Given the description of an element on the screen output the (x, y) to click on. 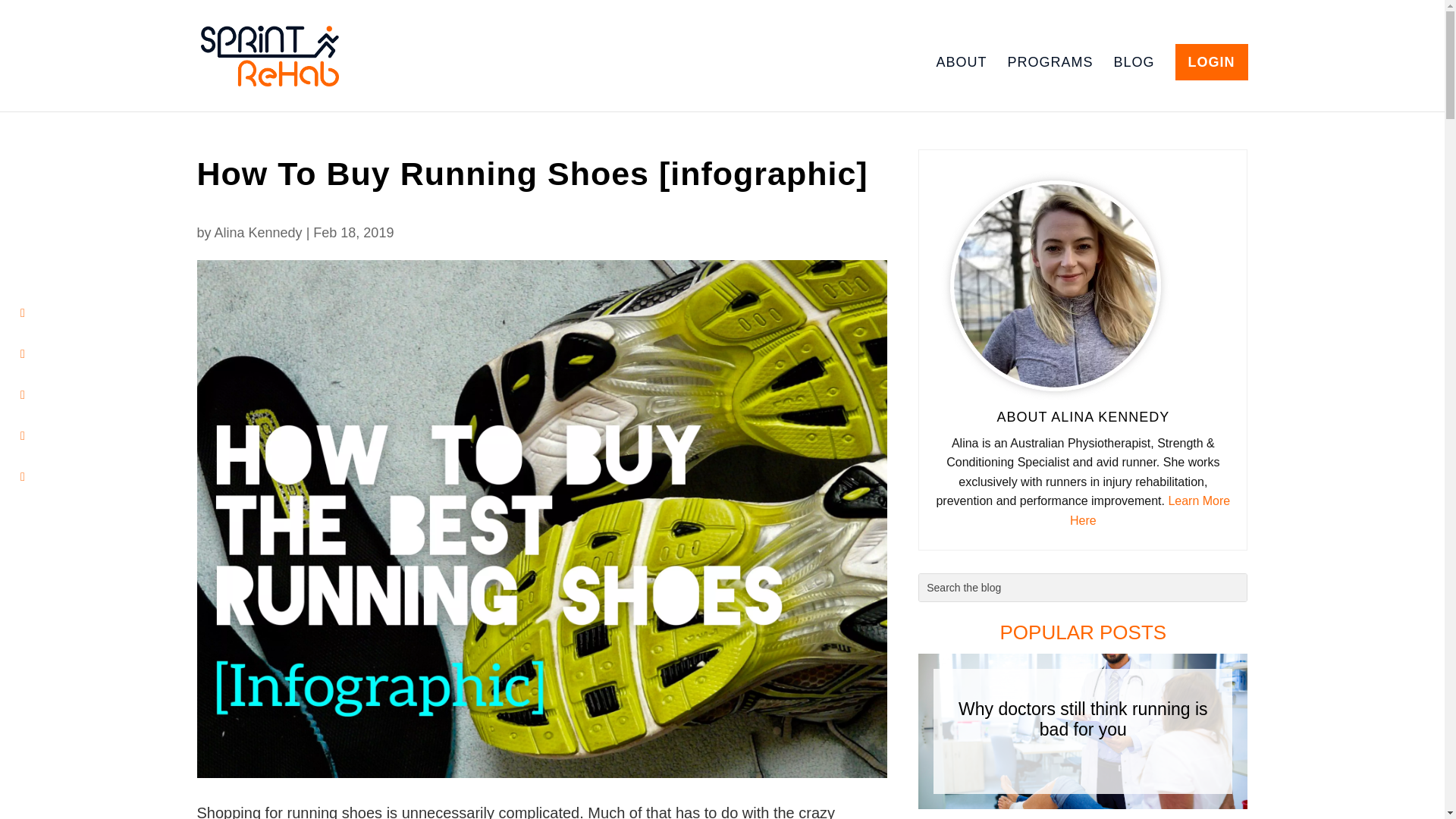
Learn More Here (1150, 510)
PROGRAMS (1050, 83)
Why doctors still think running is bad for you (1083, 719)
LOGIN (1210, 62)
Search (24, 13)
Posts by Alina Kennedy (258, 231)
ABOUT (961, 83)
Alina Kennedy (258, 231)
